Given the description of an element on the screen output the (x, y) to click on. 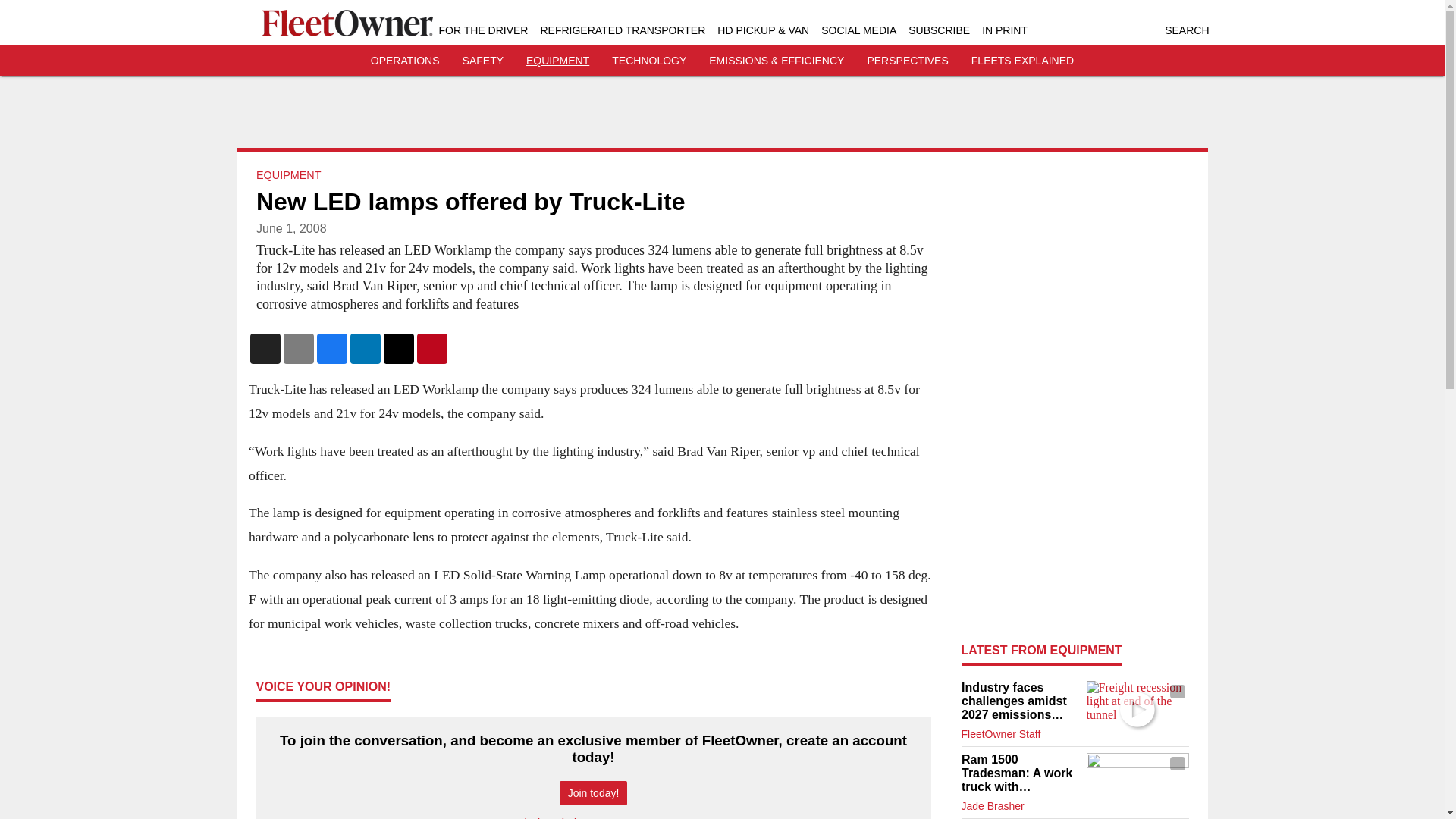
EQUIPMENT (557, 60)
REFRIGERATED TRANSPORTER (622, 30)
IN PRINT (1004, 30)
FleetOwner Staff (1000, 734)
FOR THE DRIVER (482, 30)
Join today! (593, 793)
OPERATIONS (405, 60)
Freight recession light at end of the tunnel (1137, 708)
TECHNOLOGY (648, 60)
SAFETY (483, 60)
SEARCH (1186, 30)
EQUIPMENT (288, 174)
PERSPECTIVES (906, 60)
I already have an account (593, 817)
